Given the description of an element on the screen output the (x, y) to click on. 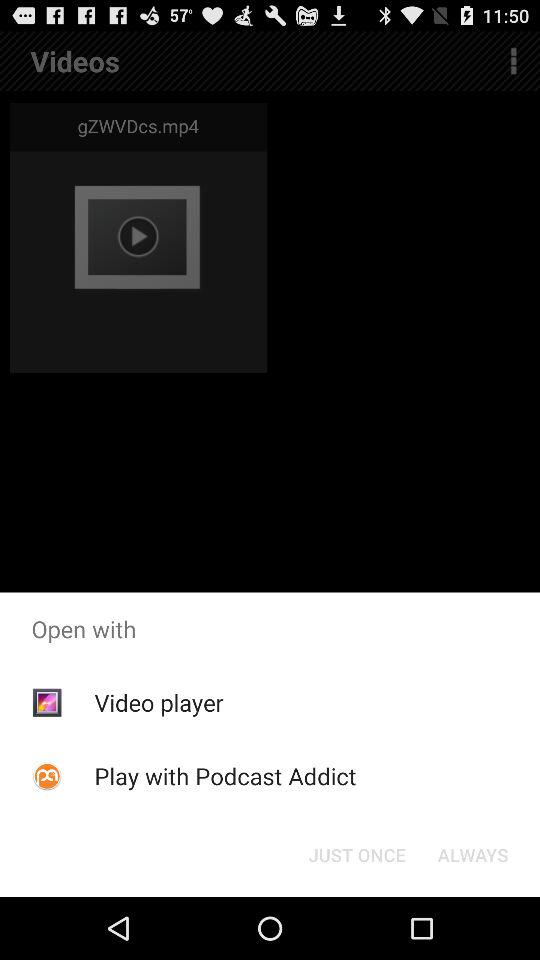
turn off app below open with icon (472, 854)
